Given the description of an element on the screen output the (x, y) to click on. 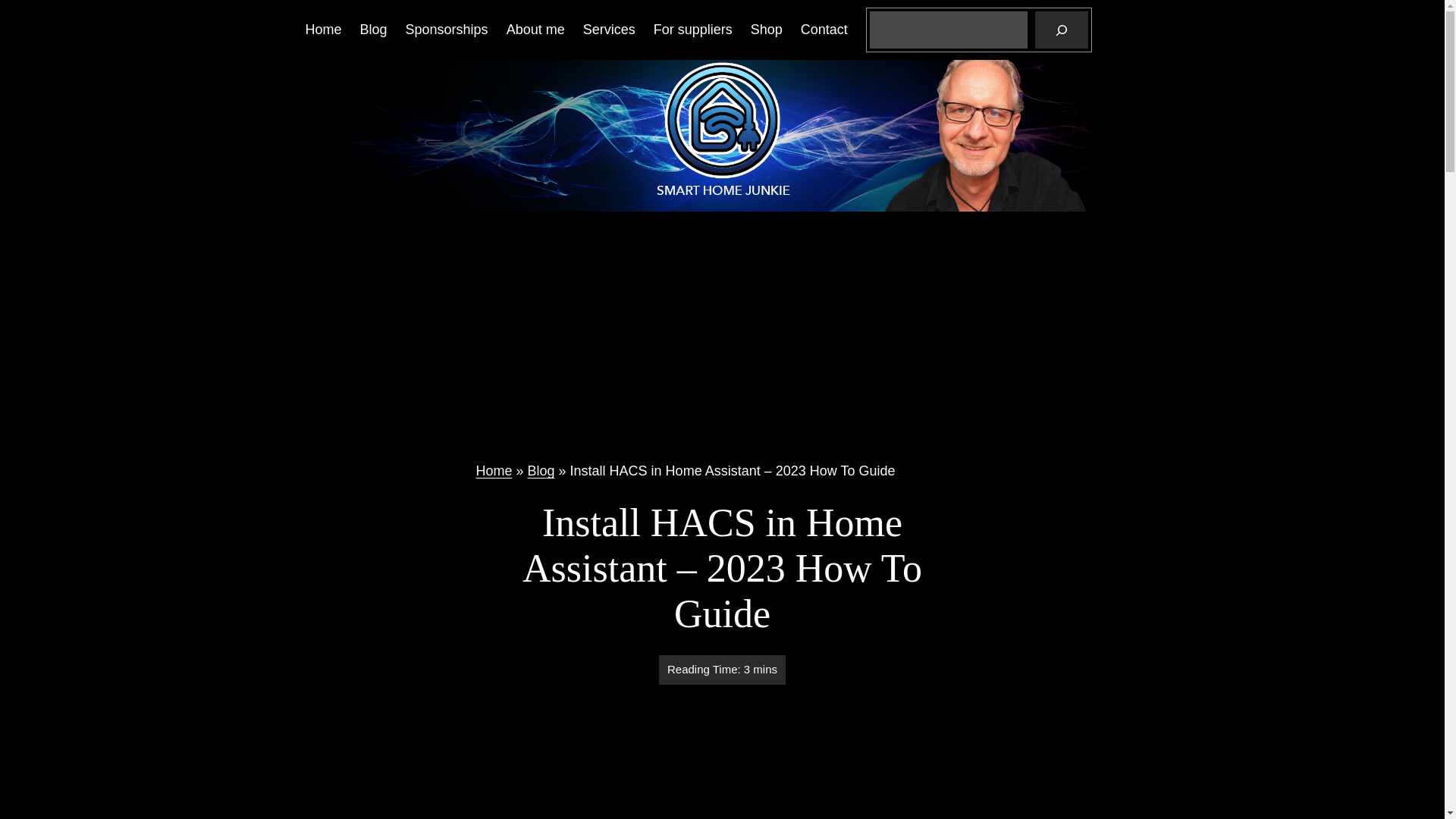
Install HACS in Home Assistant - 2024 COMPLETE HOW TO Guide (722, 760)
Services (608, 29)
Sponsorships (446, 29)
Shop (767, 29)
Blog (373, 29)
Home (322, 29)
Home (494, 470)
Contact (823, 29)
About me (535, 29)
Blog (540, 470)
For suppliers (692, 29)
